Given the description of an element on the screen output the (x, y) to click on. 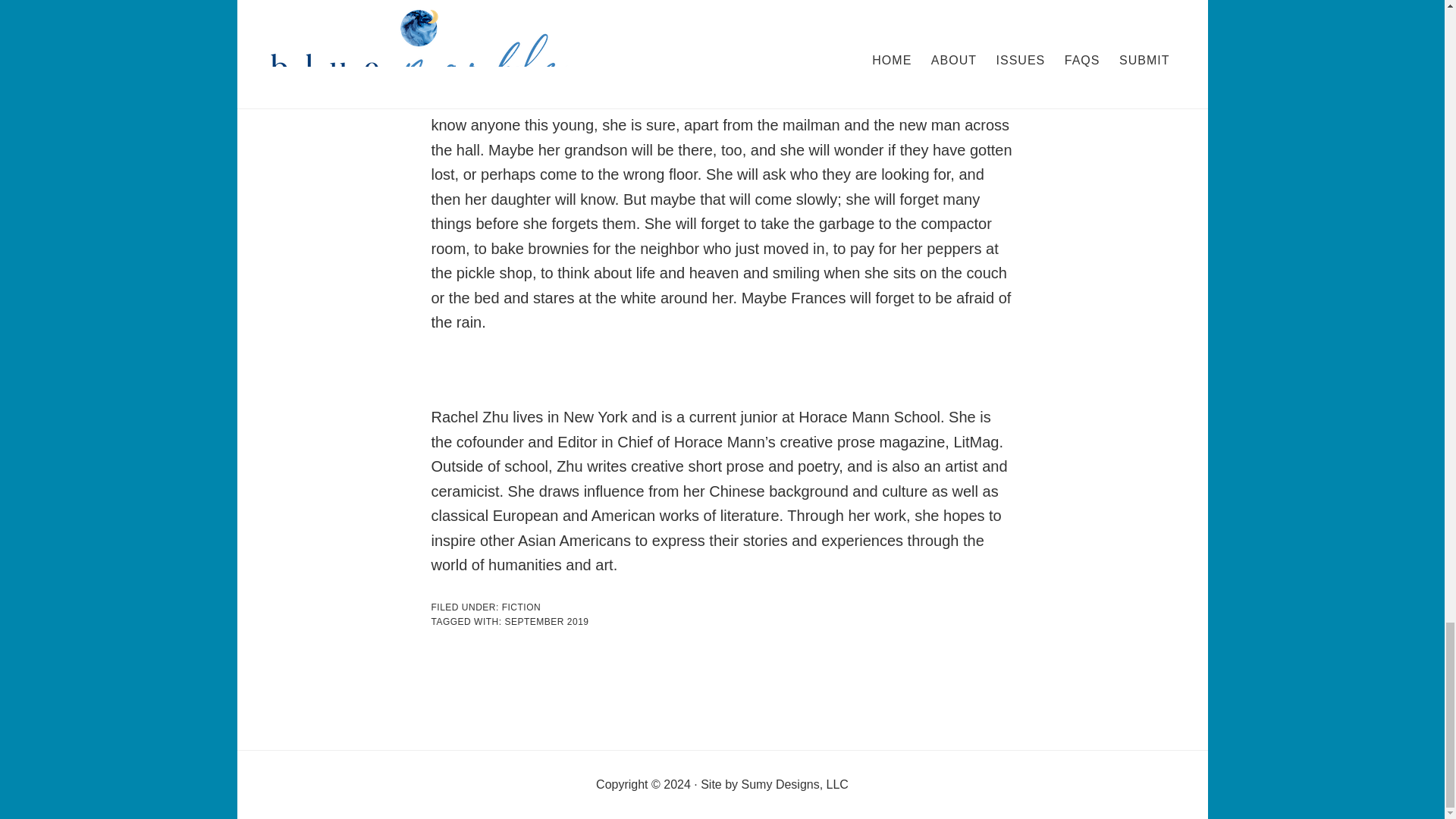
SEPTEMBER 2019 (545, 621)
Sumy Designs, LLC (794, 784)
FICTION (521, 606)
